Given the description of an element on the screen output the (x, y) to click on. 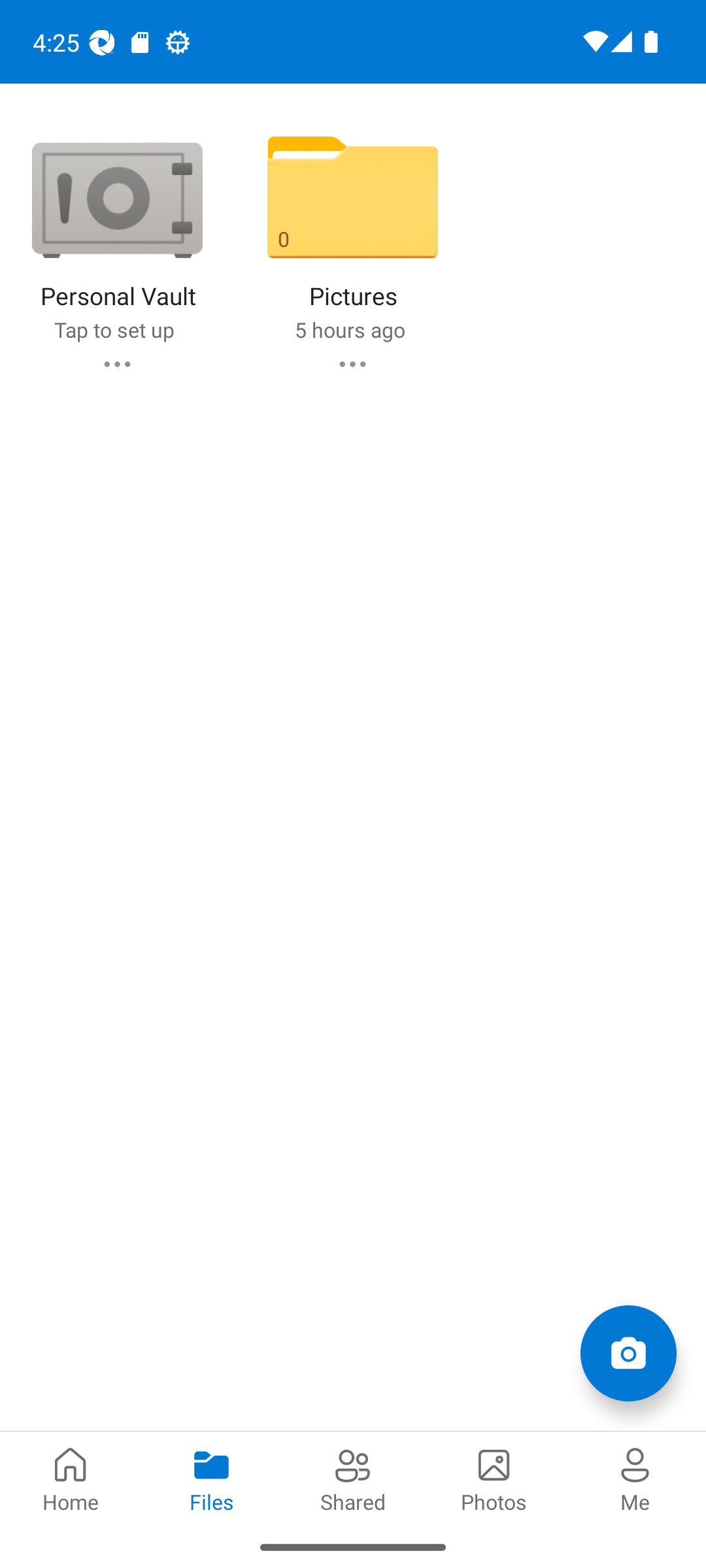
Tap to set up (113, 329)
5 hours ago (349, 329)
Personal Vault commands (116, 363)
Pictures commands (352, 363)
Add items Scan (628, 1352)
Home pivot Home (70, 1478)
Shared pivot Shared (352, 1478)
Photos pivot Photos (493, 1478)
Me pivot Me (635, 1478)
